Given the description of an element on the screen output the (x, y) to click on. 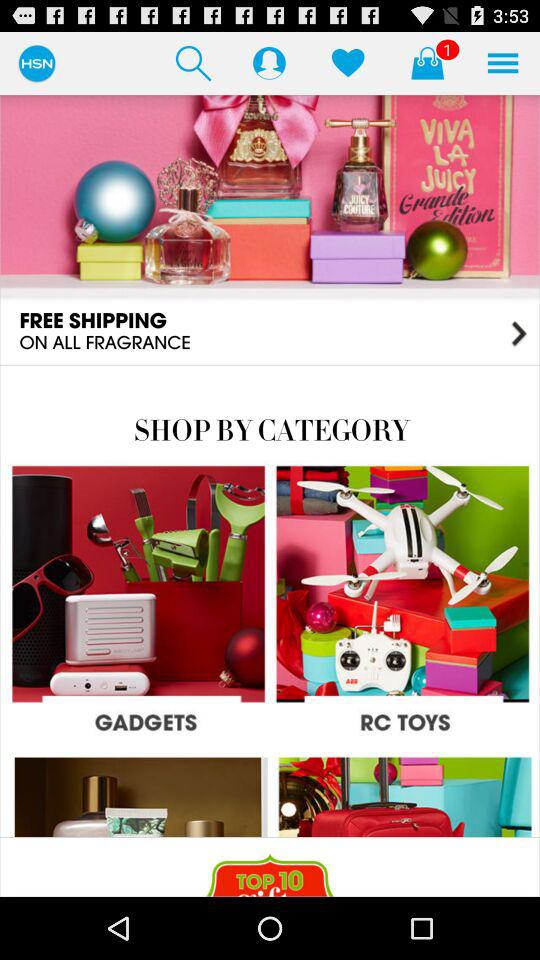
view fragrances (269, 229)
